Given the description of an element on the screen output the (x, y) to click on. 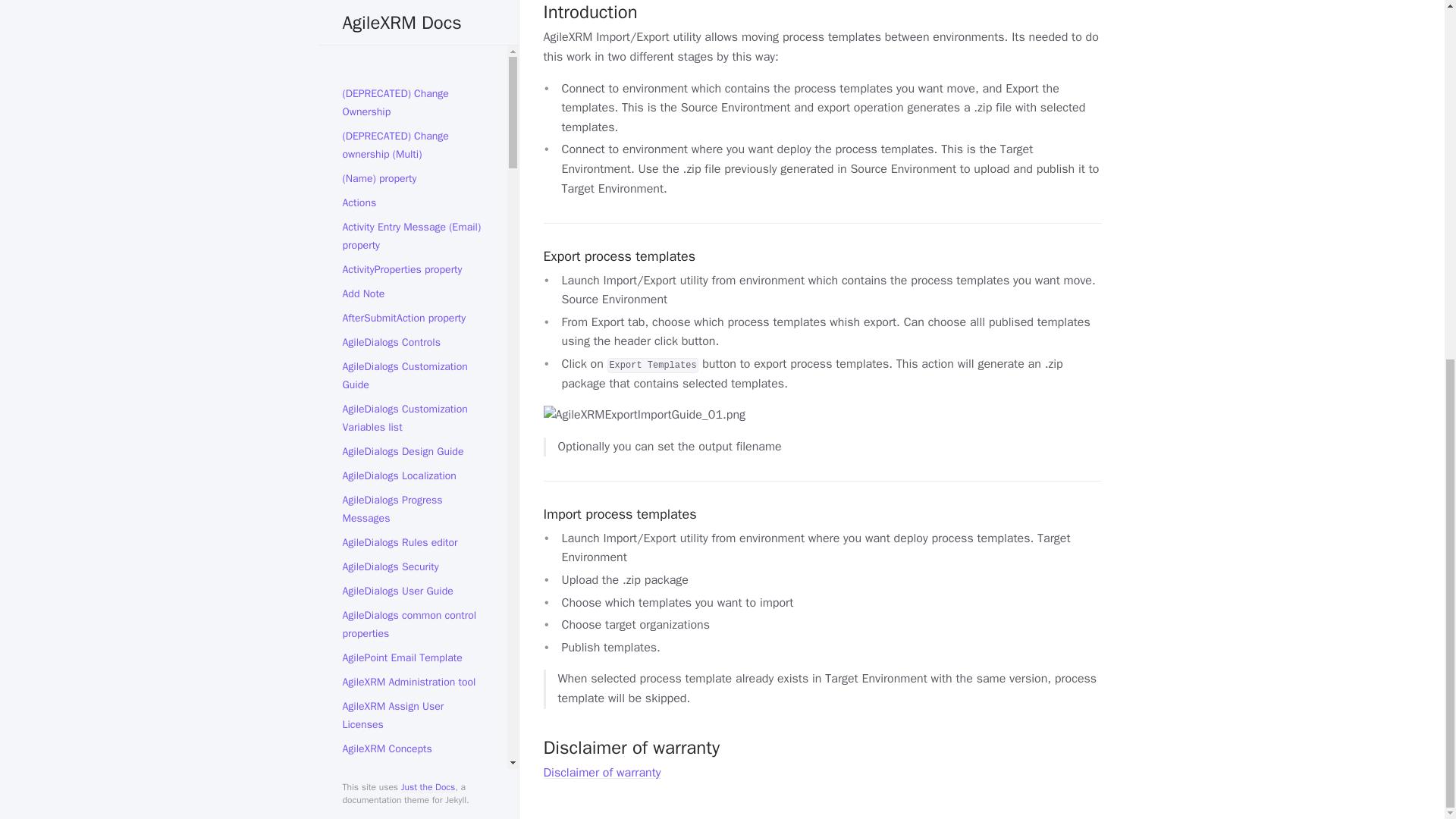
Attach Document (412, 391)
AgileXRM Concepts (412, 111)
And Shape (412, 342)
AgilePoint Email Template (412, 21)
AgileXRM Administration tool (412, 45)
Assembly Info properties (412, 366)
AgileXRM Assign User Licenses (412, 78)
AgileXRM Quick Start (412, 233)
AgileXRM Shape Reference Reference Documentation (412, 266)
Calendar control (412, 487)
